Given the description of an element on the screen output the (x, y) to click on. 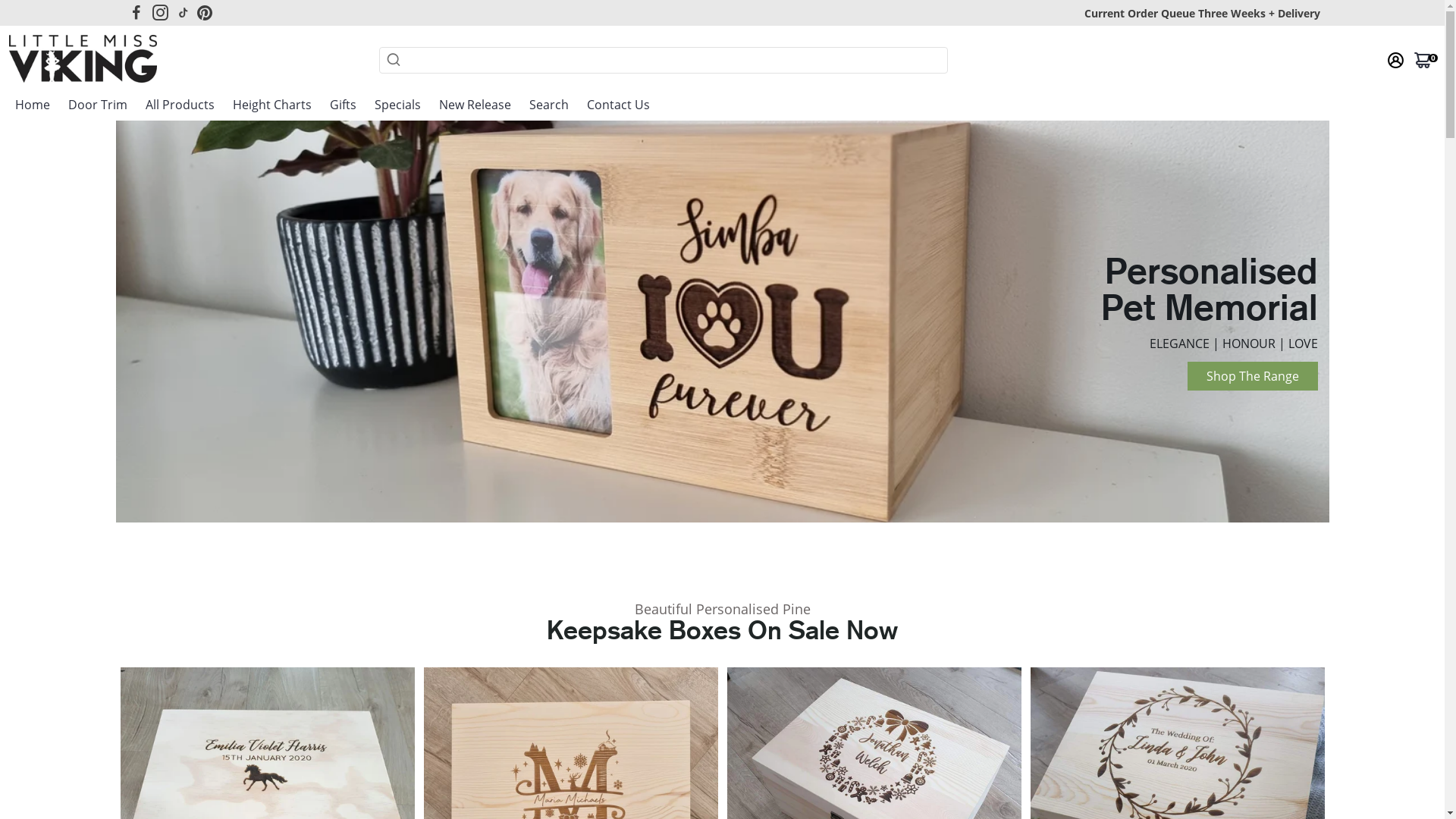
All Products Element type: text (179, 104)
Gifts Element type: text (342, 104)
Home Element type: text (32, 104)
Contact Us Element type: text (617, 104)
New Release Element type: text (475, 104)
Door Trim Element type: text (97, 104)
0 Element type: text (1421, 59)
Shop The Range Element type: text (1252, 375)
Search Element type: text (548, 104)
Specials Element type: text (397, 104)
Height Charts Element type: text (271, 104)
